Given the description of an element on the screen output the (x, y) to click on. 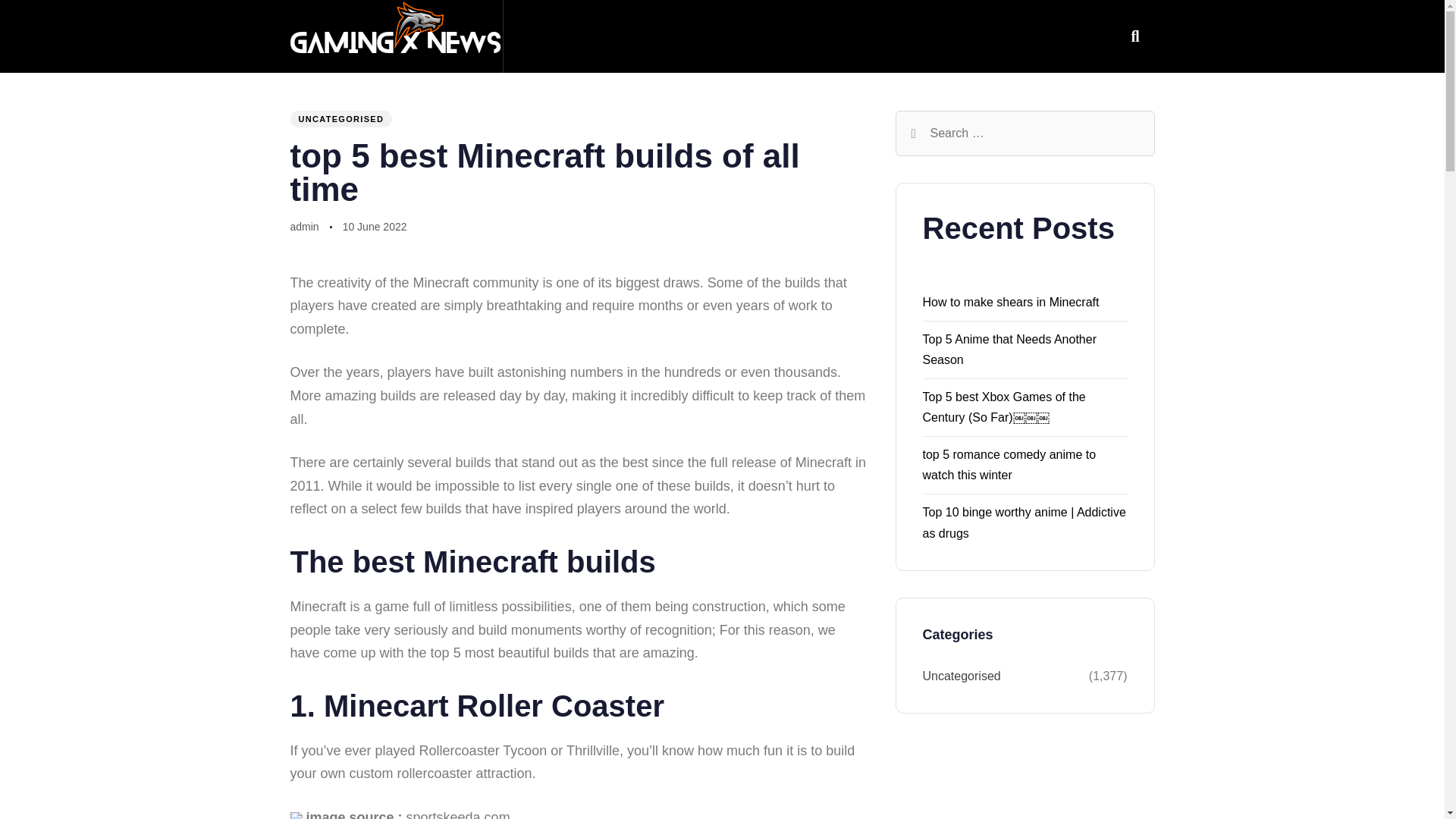
top 5 romance comedy anime to watch this winter (1008, 464)
How to make shears in Minecraft (1010, 301)
Top 5 Anime that Needs Another Season (1008, 349)
10 June 2022 (374, 227)
Posts by admin (303, 226)
Uncategorised (1004, 675)
admin (303, 226)
UNCATEGORISED (340, 118)
